Given the description of an element on the screen output the (x, y) to click on. 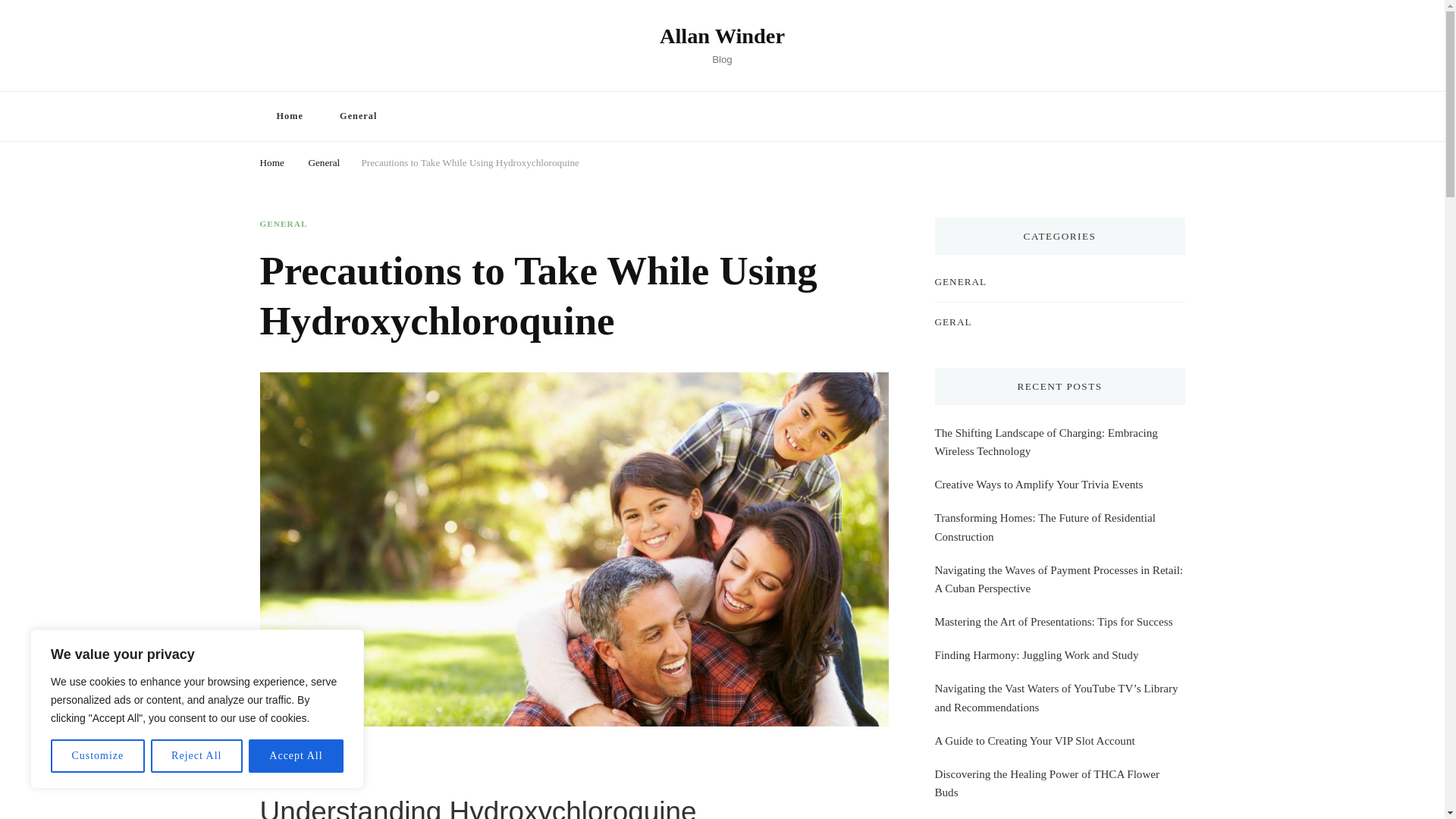
General (358, 115)
GENERAL (283, 223)
Accept All (295, 756)
General (323, 161)
Customize (97, 756)
Home (288, 115)
Reject All (197, 756)
Home (271, 161)
Precautions to Take While Using Hydroxychloroquine (470, 161)
Allan Winder (721, 35)
